Given the description of an element on the screen output the (x, y) to click on. 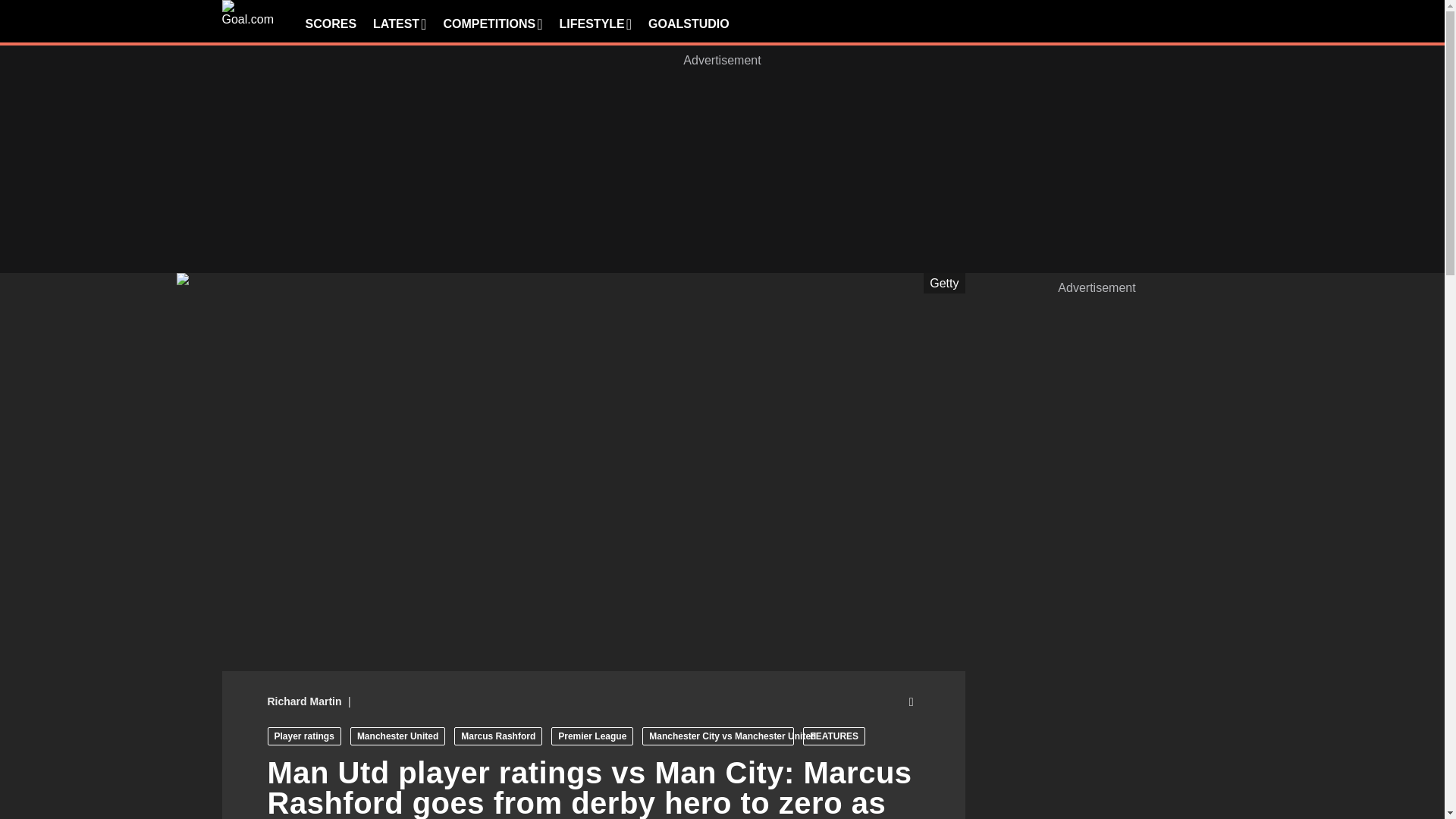
Premier League (592, 736)
Manchester City vs Manchester United (717, 736)
Manchester United (397, 736)
LATEST (399, 23)
FEATURES (833, 736)
Marcus Rashford (497, 736)
COMPETITIONS (491, 23)
SCORES (330, 23)
Player ratings (303, 736)
